Given the description of an element on the screen output the (x, y) to click on. 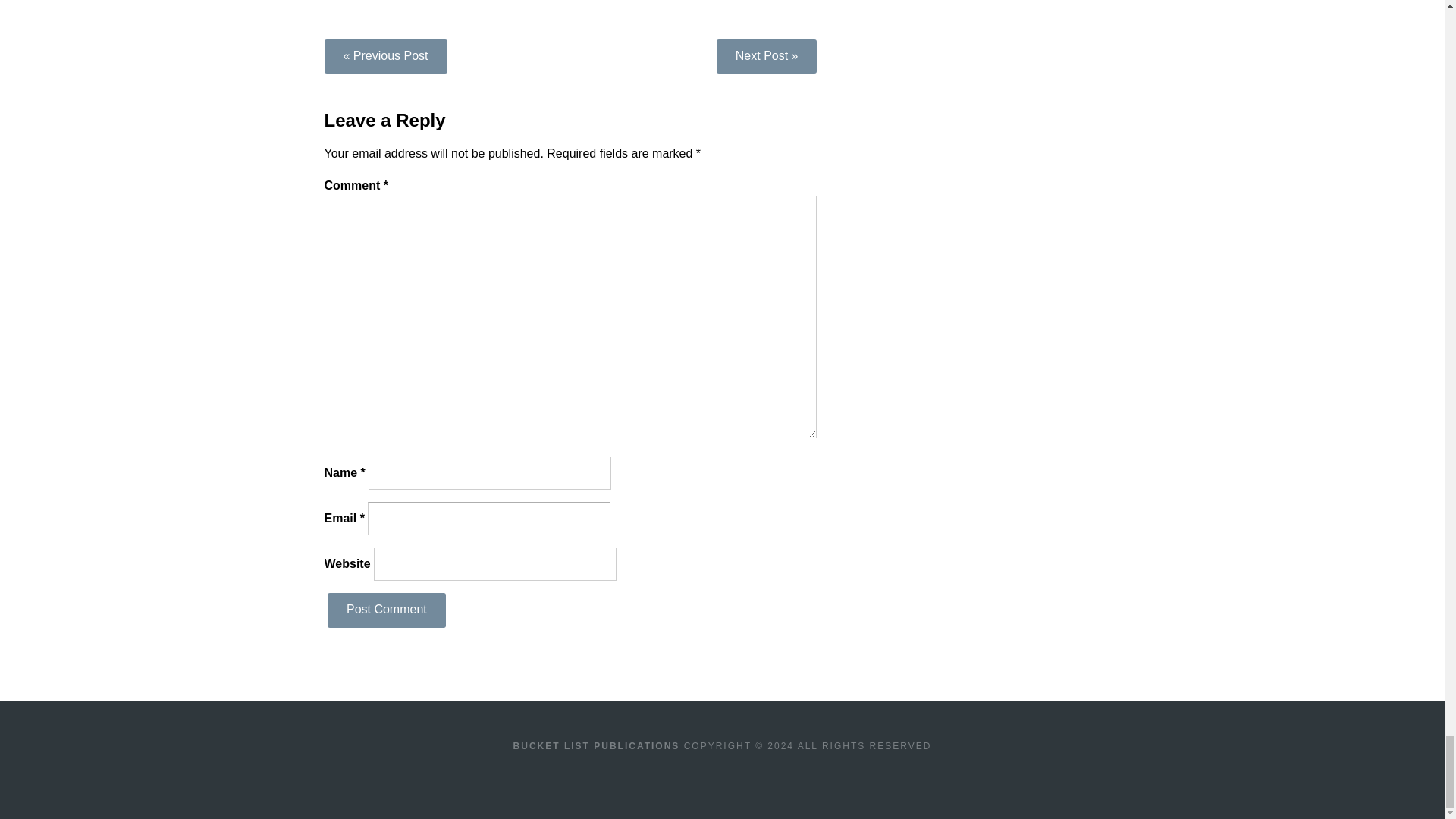
Post Comment (386, 610)
